Given the description of an element on the screen output the (x, y) to click on. 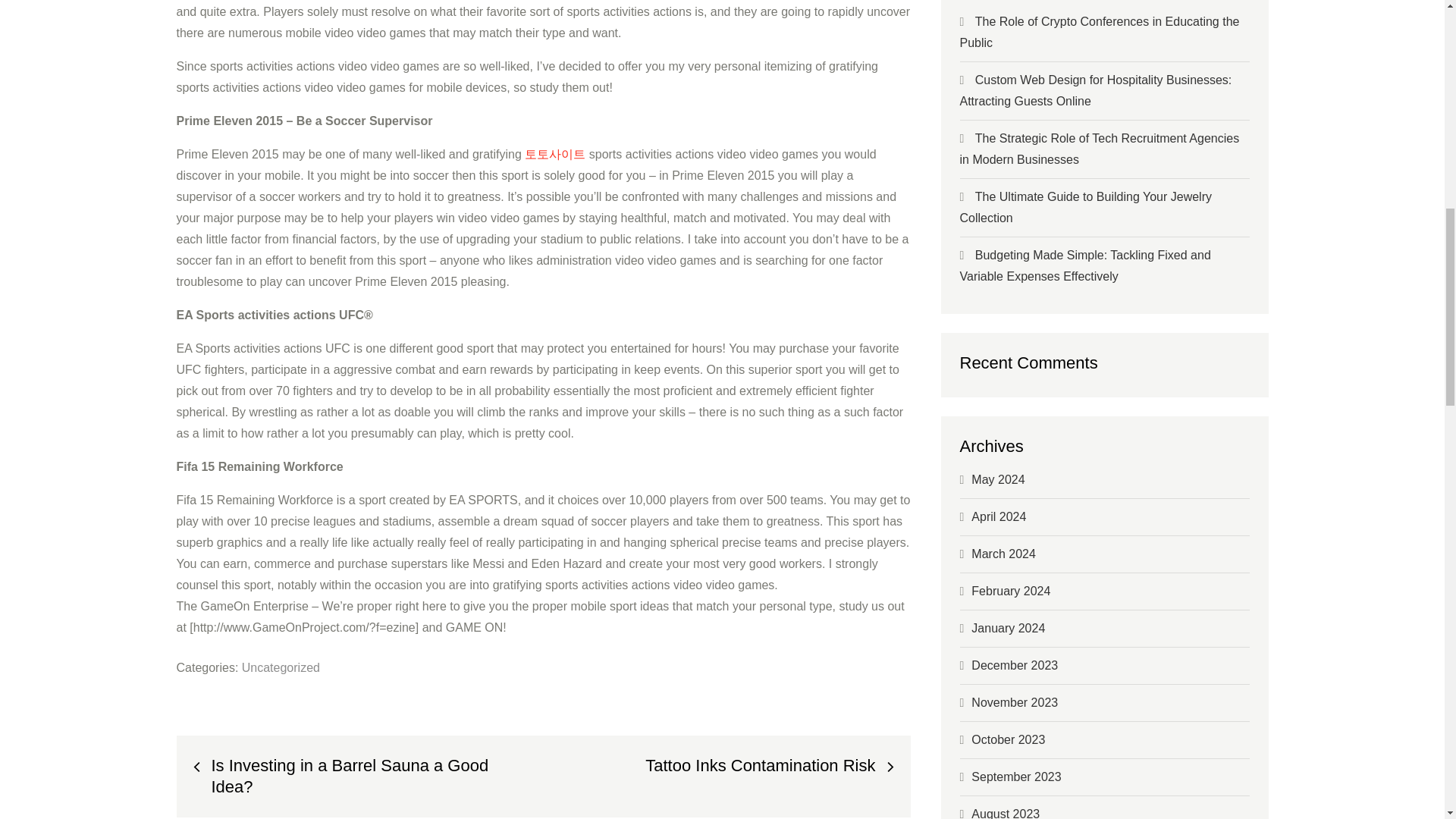
November 2023 (1014, 702)
The Ultimate Guide to Building Your Jewelry Collection (1085, 207)
Uncategorized (280, 667)
March 2024 (1003, 553)
April 2024 (998, 516)
January 2024 (1008, 627)
August 2023 (1005, 813)
The Role of Crypto Conferences in Educating the Public (1099, 32)
October 2023 (1008, 739)
